Given the description of an element on the screen output the (x, y) to click on. 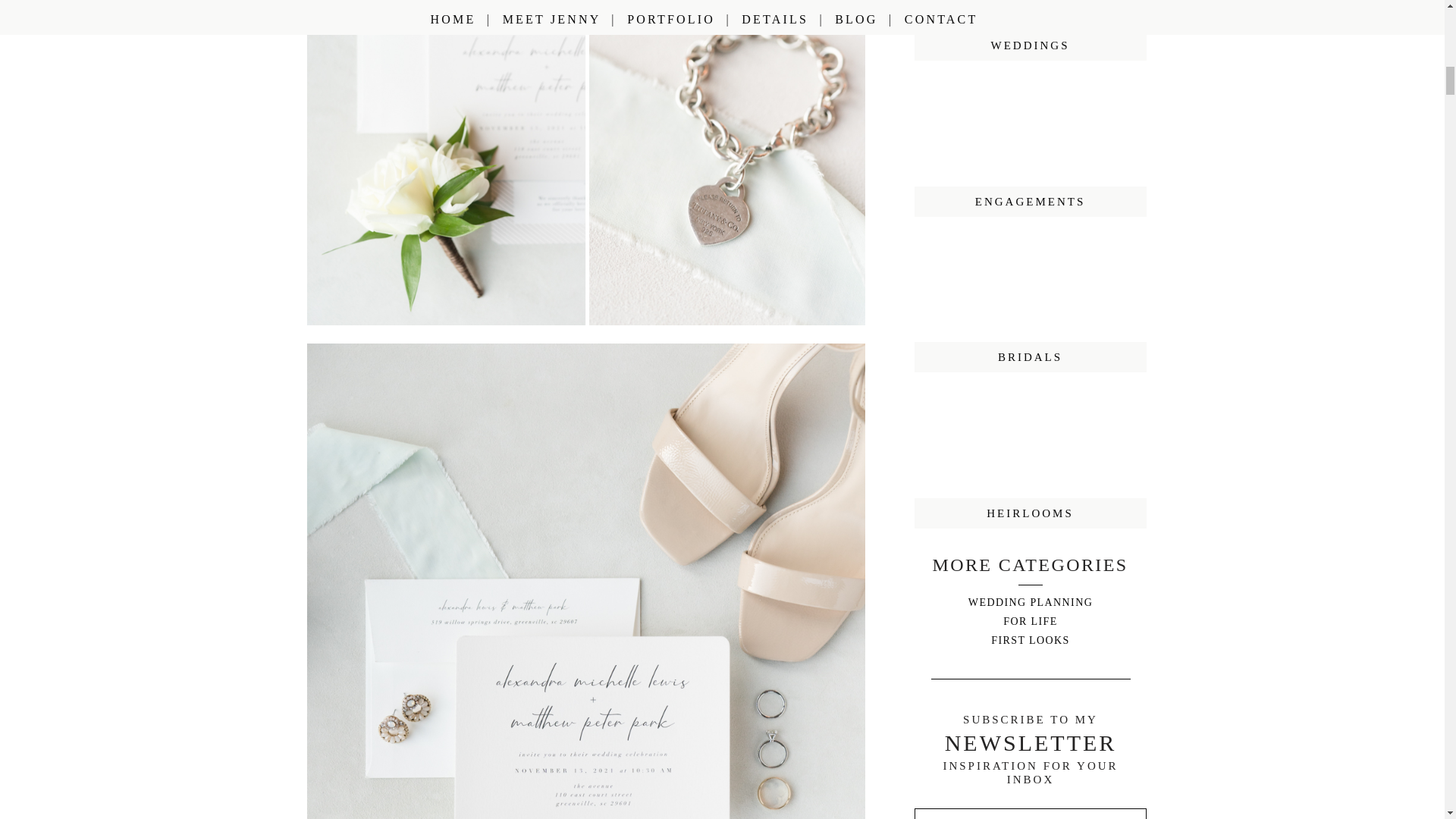
HEIRLOOMS (1030, 512)
FIRST LOOKS (1029, 639)
FOR LIFE (1029, 620)
WEDDINGS (1030, 45)
ENGAGEMENTS (1030, 201)
BRIDALS (1030, 357)
WEDDING PLANNING (1029, 601)
